Given the description of an element on the screen output the (x, y) to click on. 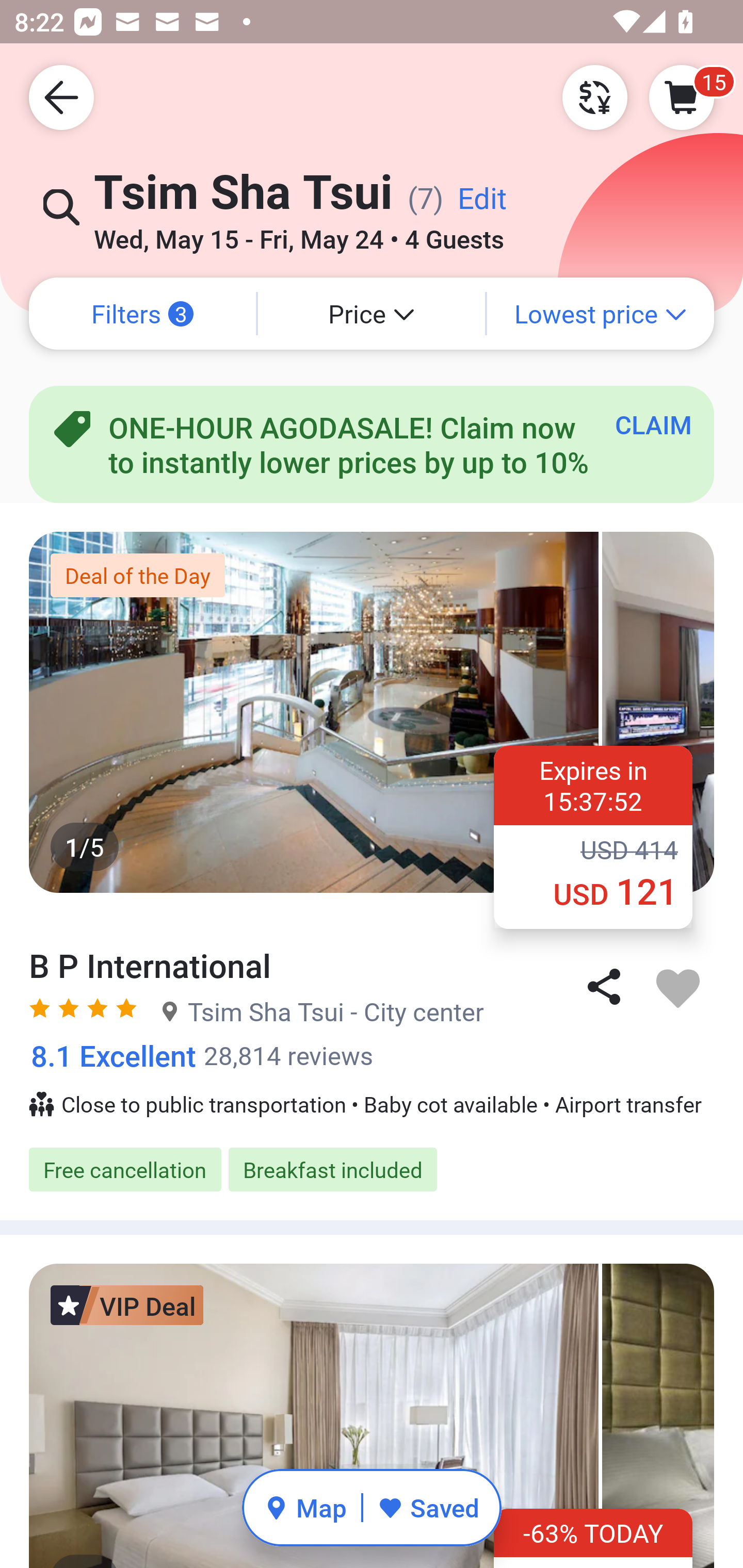
Filters 3 (141, 313)
Price (371, 313)
Lowest price (600, 313)
CLAIM (653, 424)
1/5 (371, 711)
Deal of the Day (137, 575)
Expires in 15:37:53 ‪USD 414 ‪USD 121 (593, 837)
Free cancellation Breakfast included (371, 1169)
VIP Deal (126, 1305)
1/5 (371, 1415)
Map (305, 1507)
Saved (428, 1507)
-63% TODAY ‪USD 333 (593, 1538)
